Given the description of an element on the screen output the (x, y) to click on. 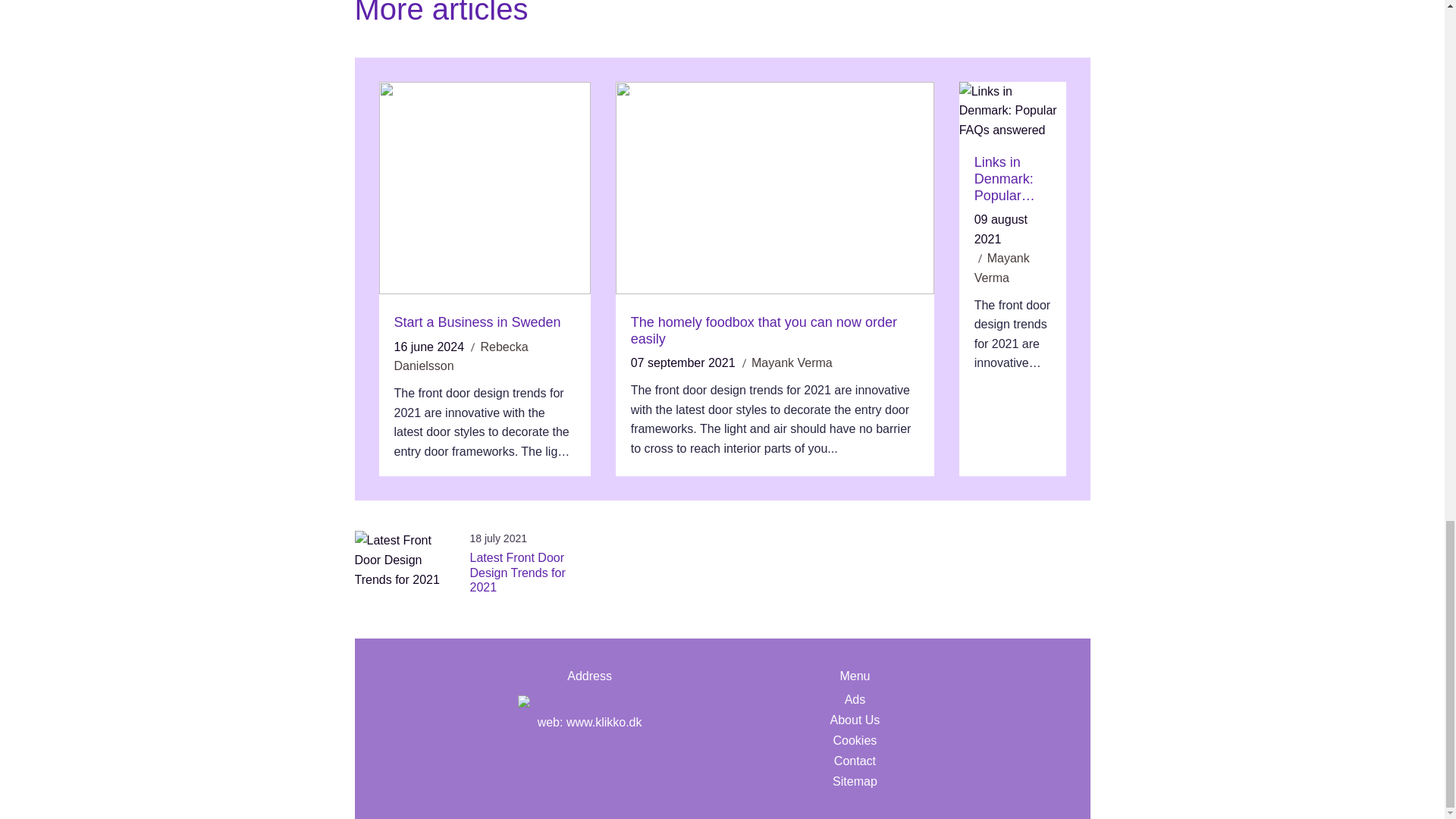
About Us (854, 719)
The homely foodbox that you can now order easily (774, 330)
Cookies (854, 740)
Sitemap (854, 780)
Links in Denmark: Popular FAQs answered (1012, 178)
Start a Business in Sweden (484, 322)
Latest Front Door Design Trends for 2021 (529, 572)
www.klikko.dk (604, 721)
Contact (855, 760)
Ads (855, 699)
